Given the description of an element on the screen output the (x, y) to click on. 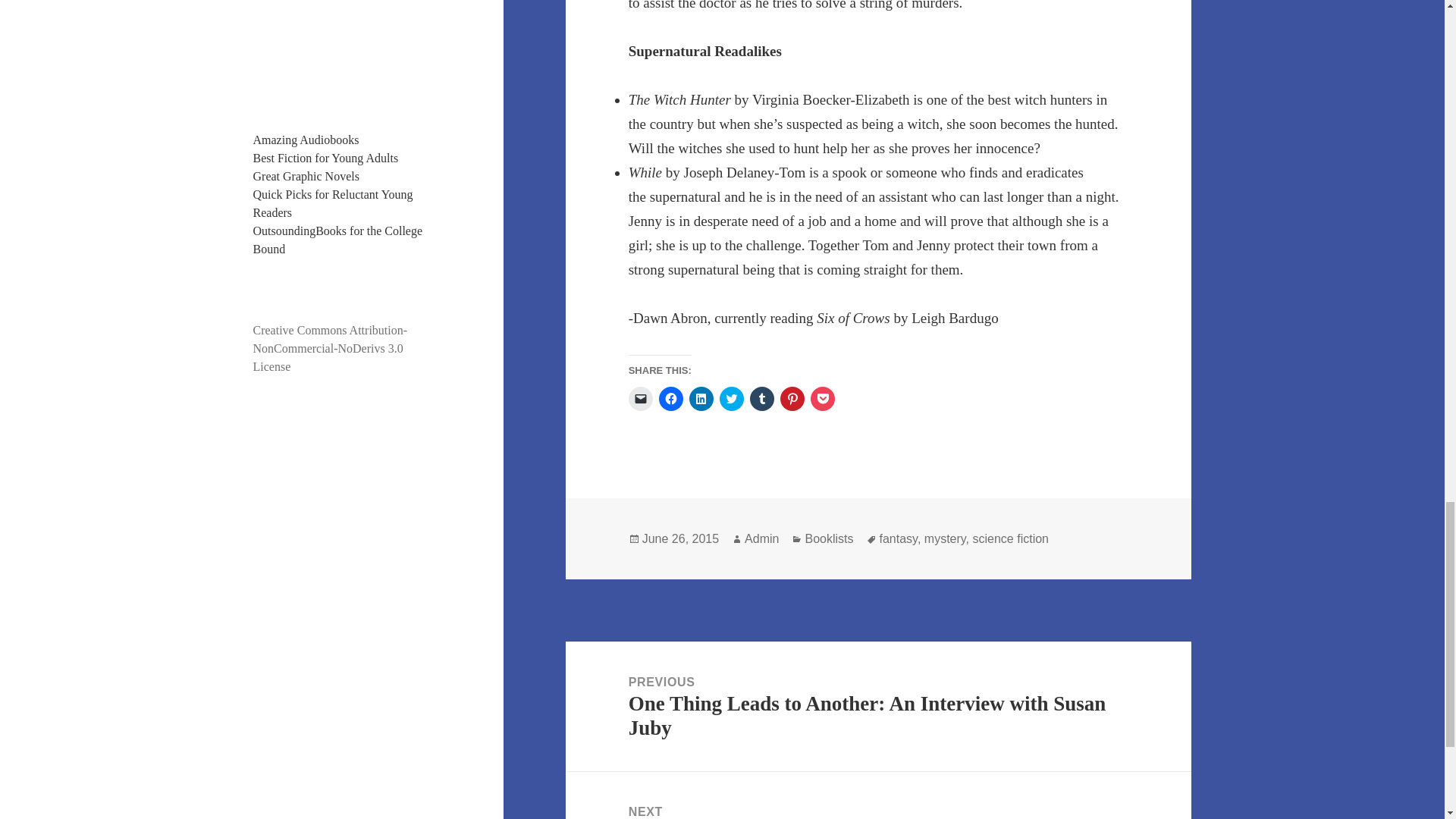
Click to share on Pinterest (792, 398)
Click to email a link to a friend (640, 398)
Quick Picks for Reluctant Young Readers (333, 203)
Amazing Audiobooks (306, 139)
Click to share on Tumblr (761, 398)
Click to share on Twitter (731, 398)
Best Fiction for Young Adults (325, 157)
Great Graphic Novels (306, 175)
Click to share on Facebook (670, 398)
Click to share on LinkedIn (700, 398)
